Given the description of an element on the screen output the (x, y) to click on. 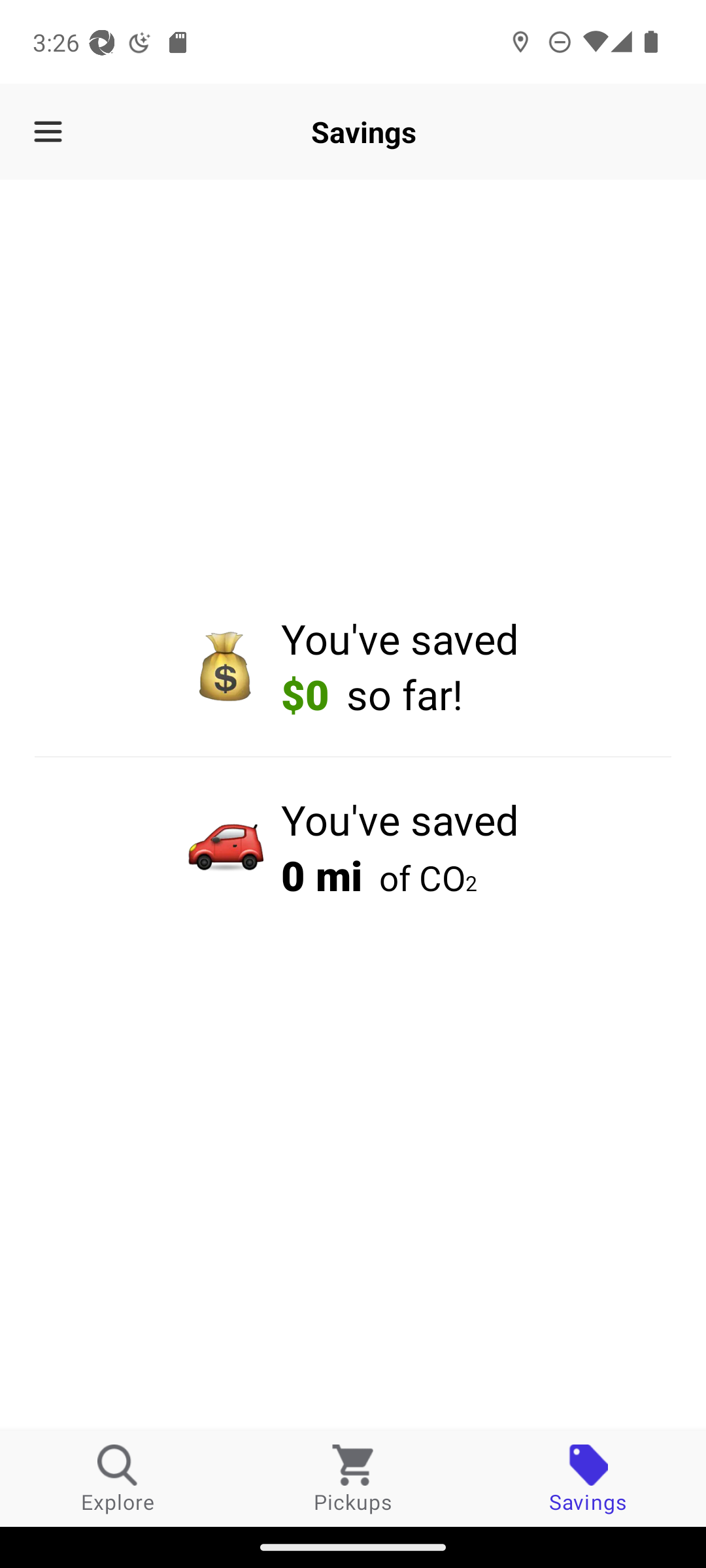
Navigate up (48, 131)
Explore (117, 1478)
Pickups (352, 1478)
